Given the description of an element on the screen output the (x, y) to click on. 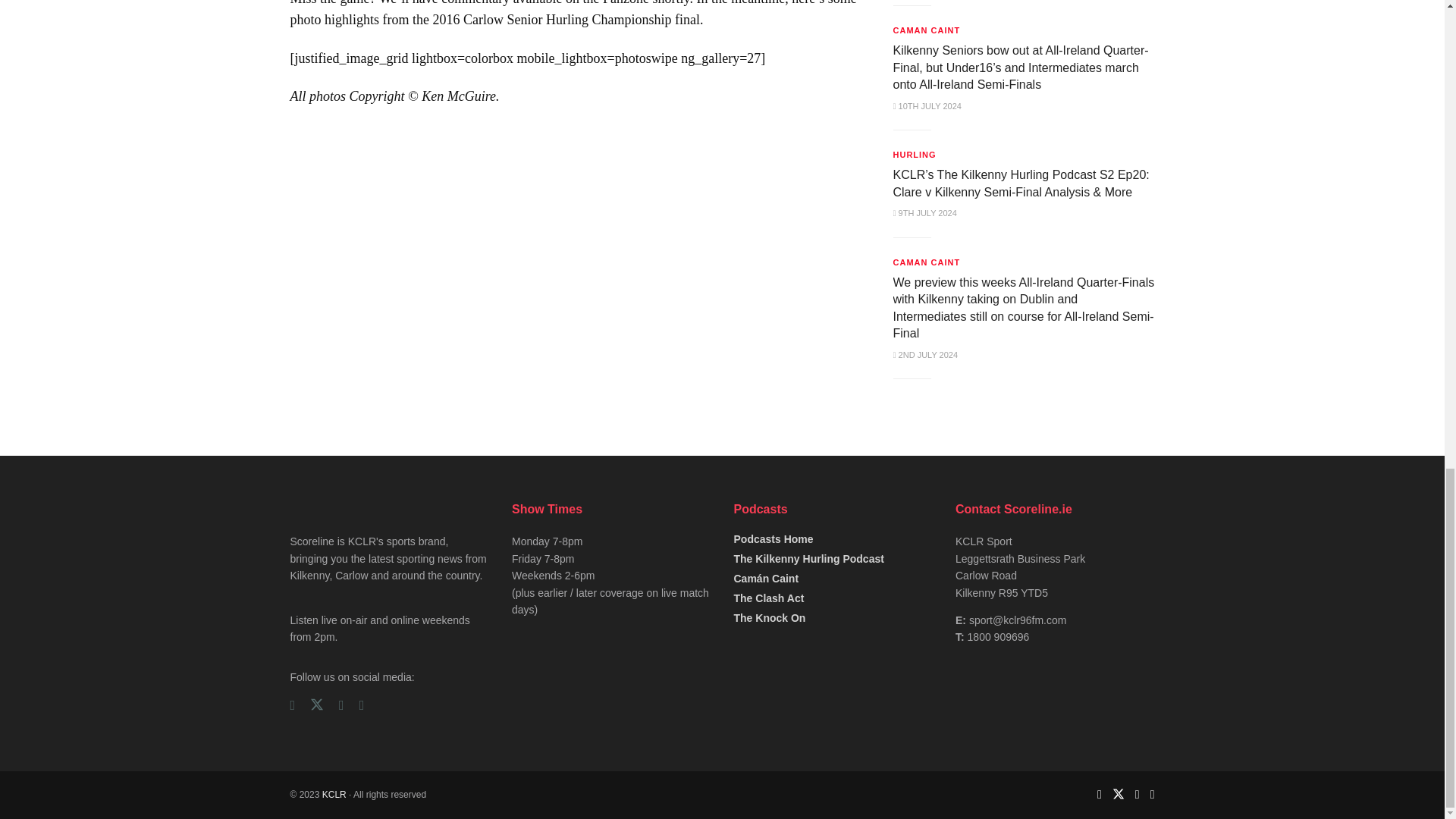
CAMAN CAINT (926, 30)
10TH JULY 2024 (926, 105)
